Given the description of an element on the screen output the (x, y) to click on. 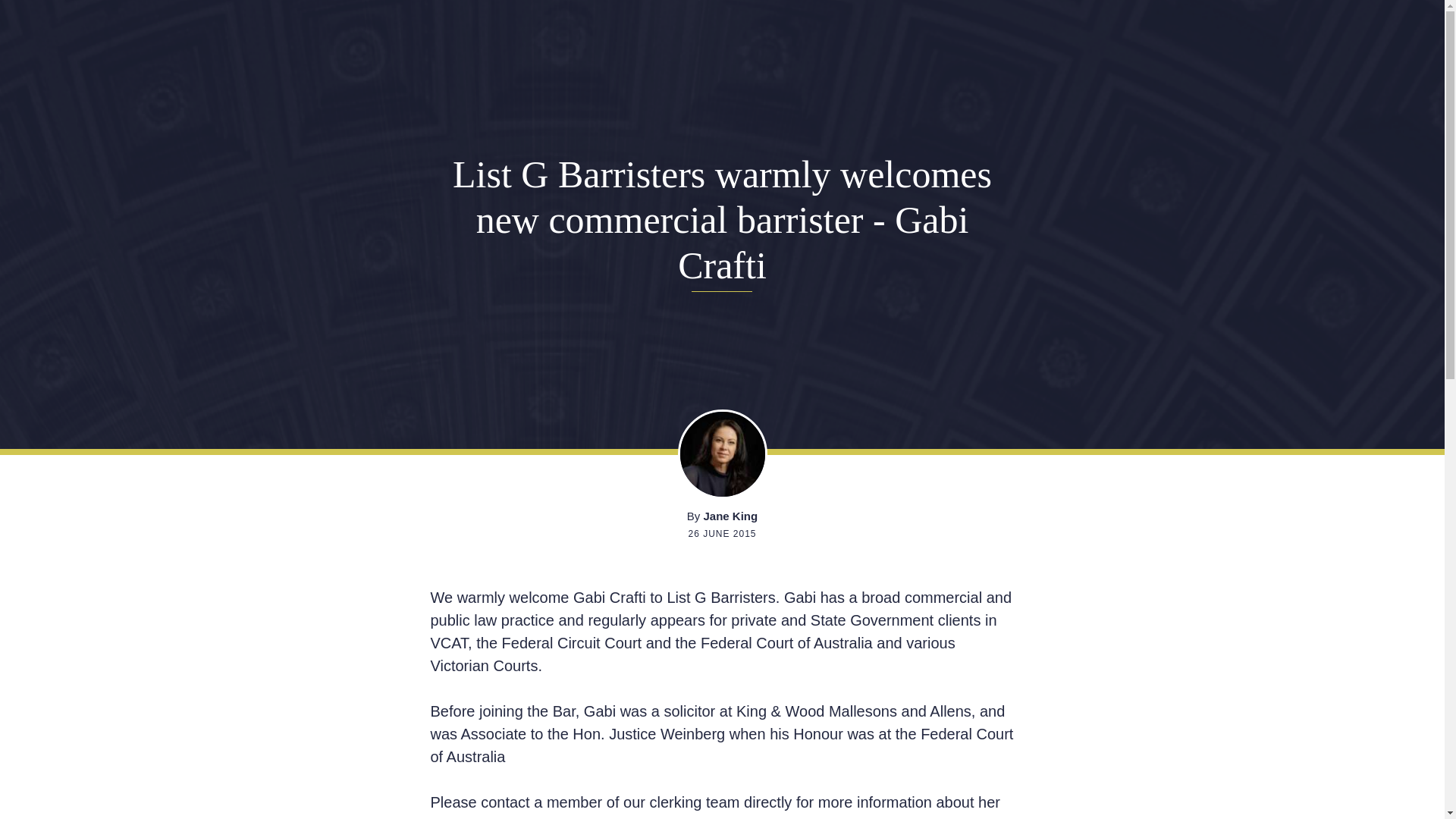
Clerks (594, 316)
Jane King (730, 515)
BARRISTER LOGIN (1006, 439)
Services (594, 410)
Privacy Policy (57, 773)
Barristers (594, 221)
Contact (594, 505)
Disclaimer (138, 773)
JOIN THE LIST (1006, 322)
PUBLICATIONS (1006, 400)
